Given the description of an element on the screen output the (x, y) to click on. 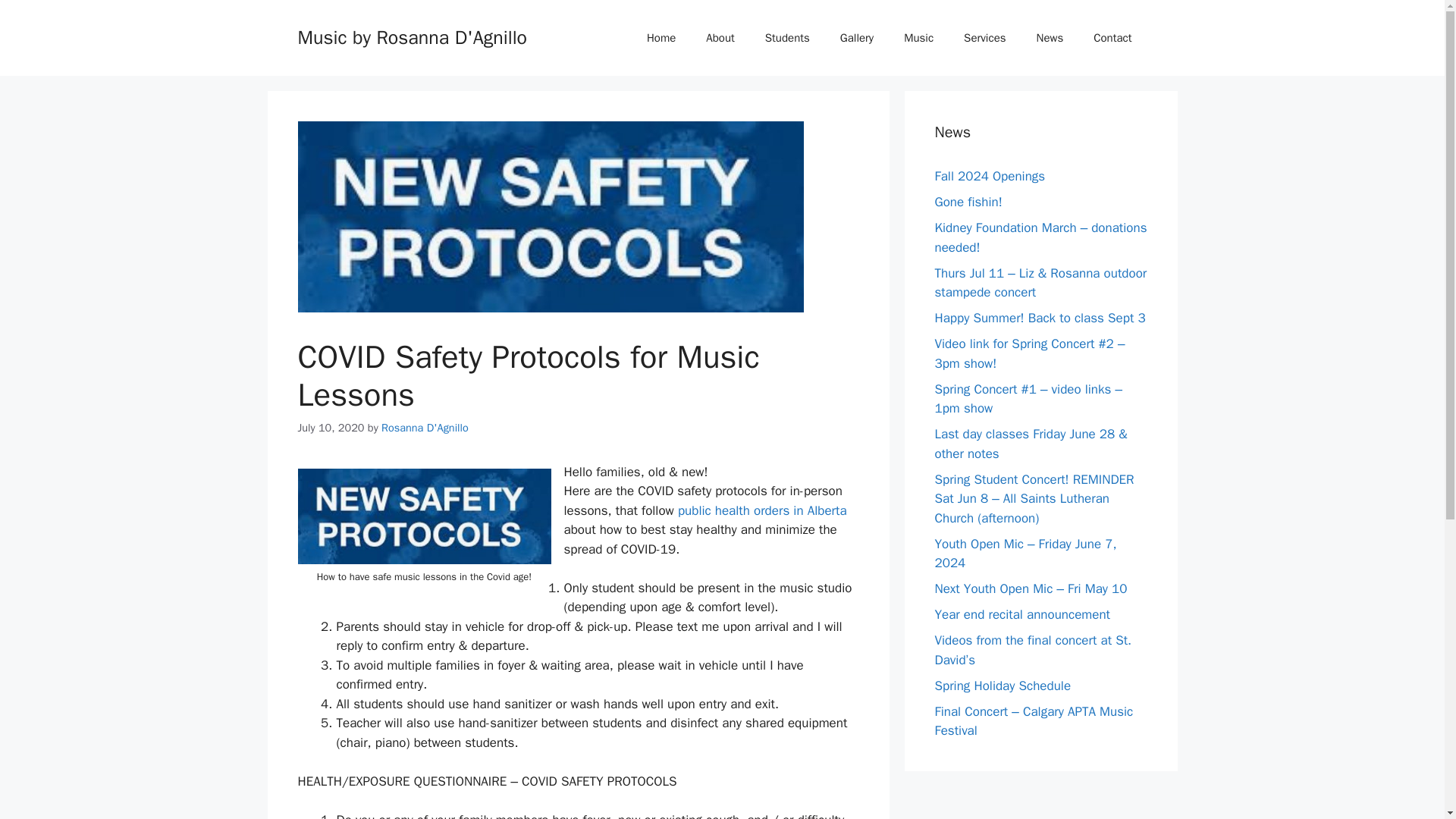
Year end recital announcement (1021, 614)
About (719, 37)
Spring Holiday Schedule (1002, 685)
News (1050, 37)
View all posts by Rosanna D'Agnillo (424, 427)
Music (918, 37)
Students (787, 37)
Gallery (856, 37)
Happy Summer! Back to class Sept 3 (1039, 317)
Services (984, 37)
